Given the description of an element on the screen output the (x, y) to click on. 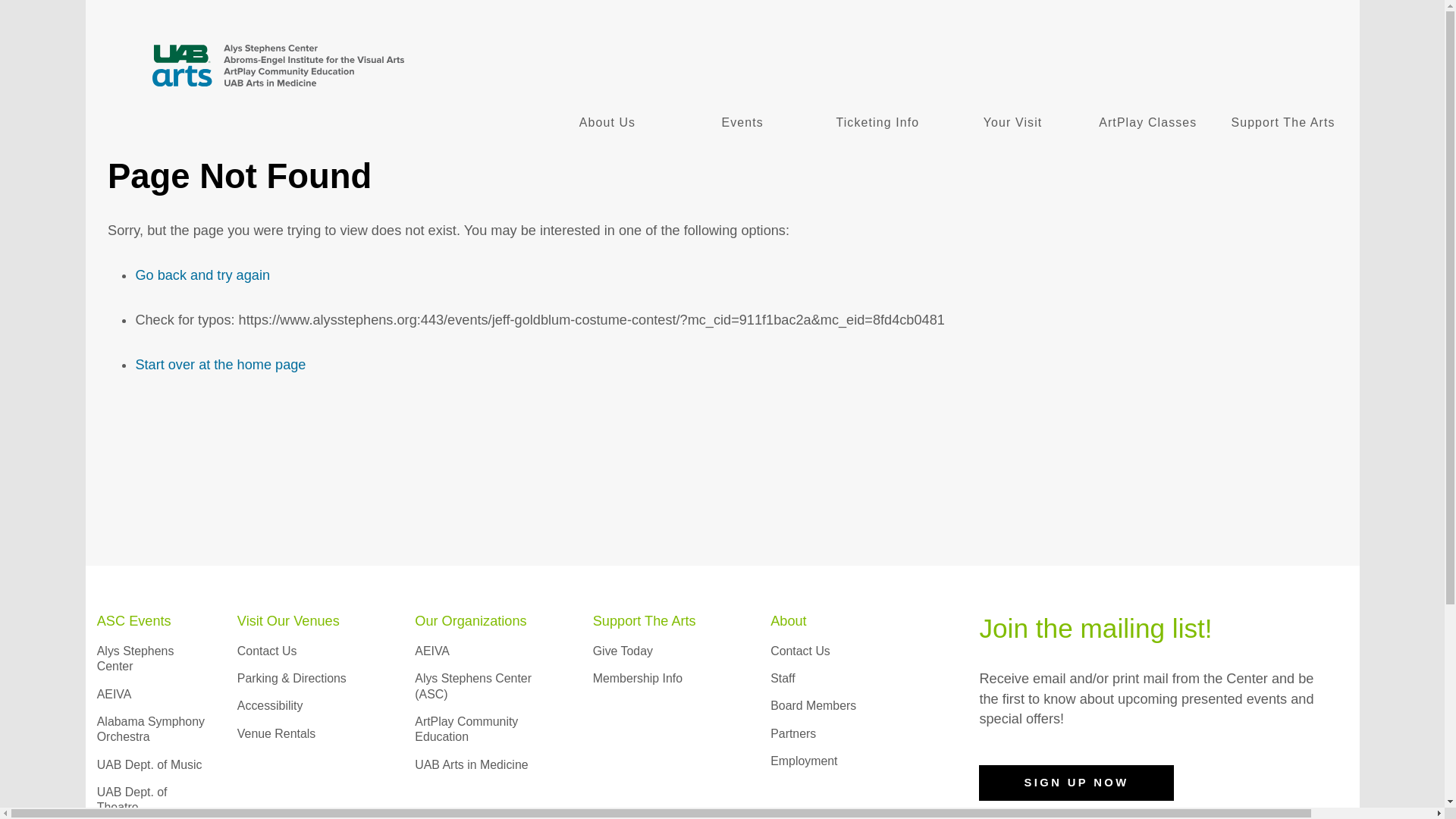
Go back and try again (202, 274)
ASC Events (134, 620)
About Us (607, 122)
Events (742, 122)
Start over at the home page (220, 364)
Support The Arts (1283, 122)
ArtPlay Classes (1147, 122)
Your Visit (1012, 122)
Ticketing Info (876, 122)
SIGN UP NOW (1075, 782)
